Given the description of an element on the screen output the (x, y) to click on. 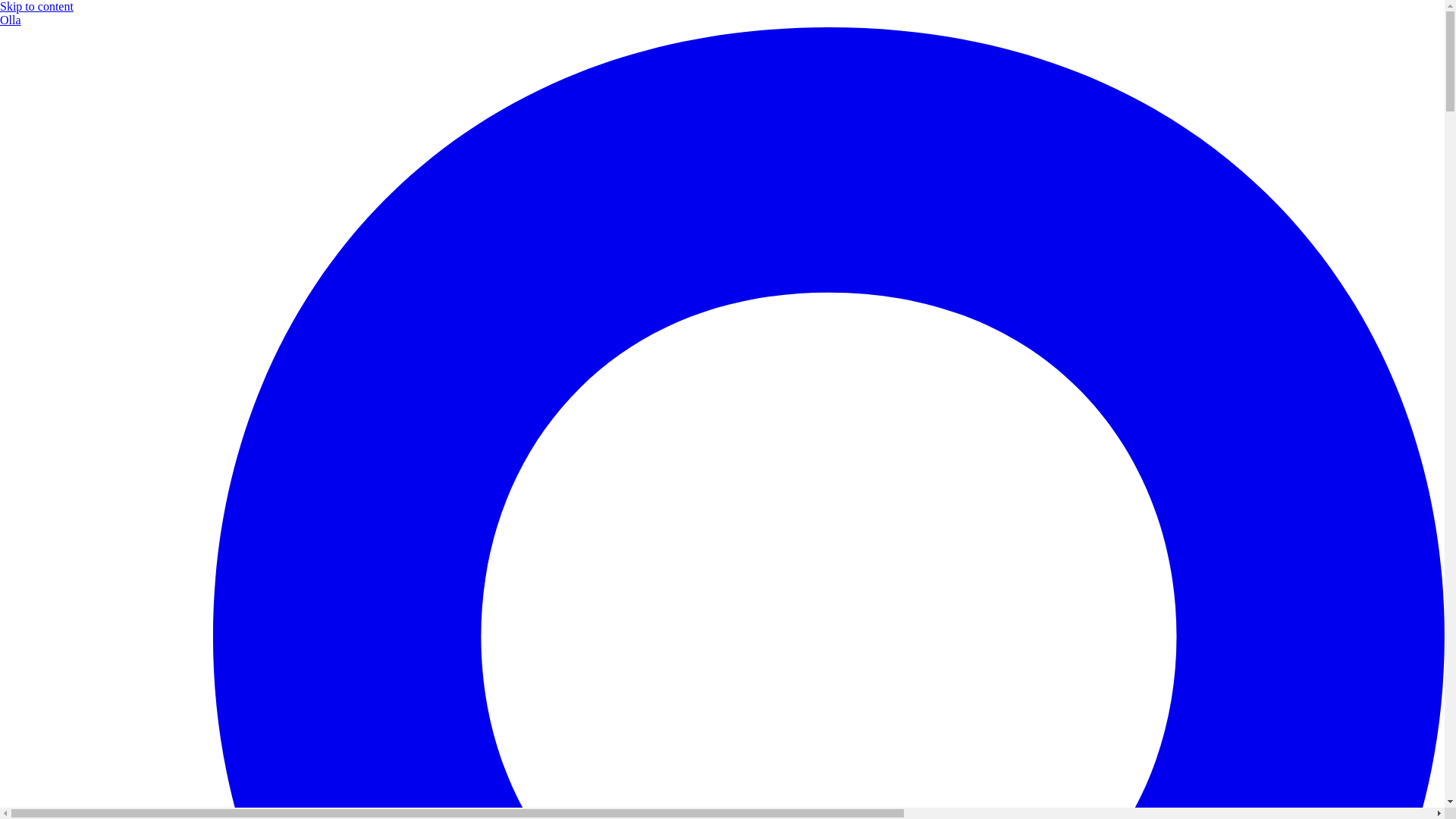
Skip to content (37, 6)
